Given the description of an element on the screen output the (x, y) to click on. 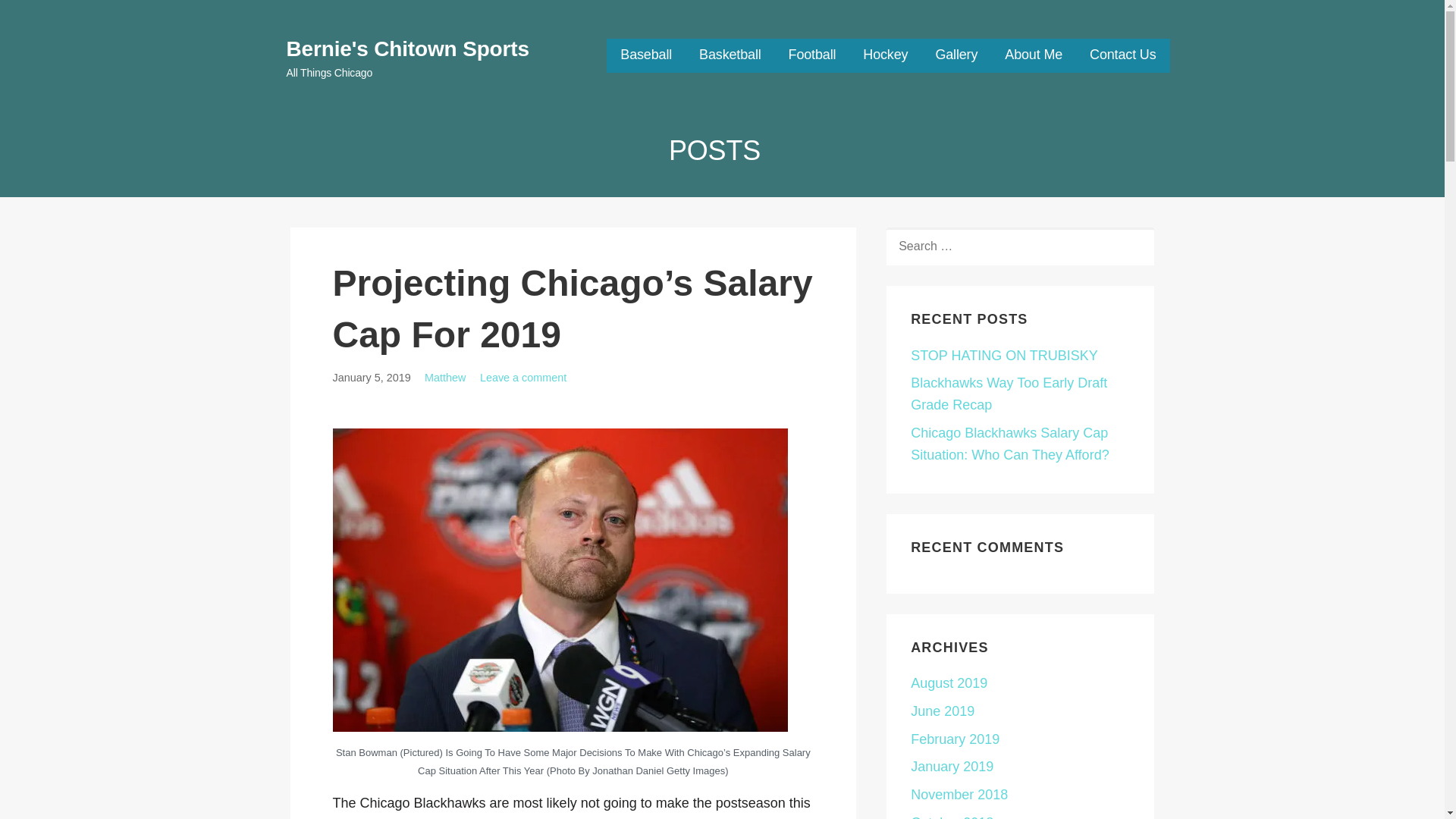
About Me (1033, 55)
Blackhawks Way Too Early Draft Grade Recap (1008, 393)
STOP HATING ON TRUBISKY (1004, 355)
Football (812, 55)
Contact Us (1122, 55)
Posts by Matthew (445, 377)
Matthew (445, 377)
Baseball (645, 55)
Search (47, 17)
Bernie's Chitown Sports (407, 48)
Basketball (729, 55)
Hockey (885, 55)
Leave a comment (523, 377)
Gallery (955, 55)
